Given the description of an element on the screen output the (x, y) to click on. 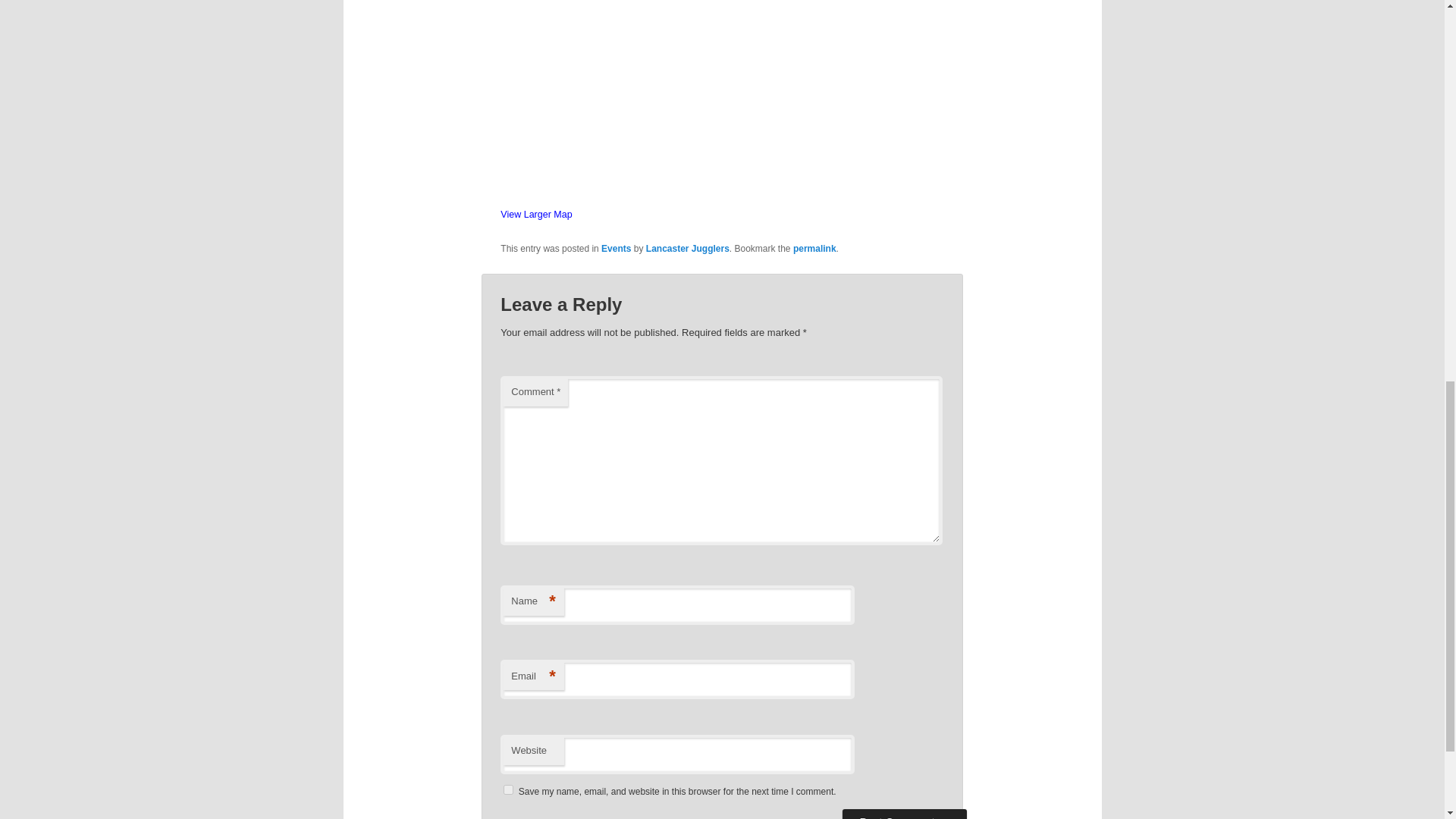
Lancaster Jugglers (687, 248)
View Larger Map (536, 214)
Events (615, 248)
Post Comment (904, 814)
Post Comment (904, 814)
yes (508, 789)
permalink (814, 248)
Permalink to World Juggling Day in Lancaster, PA (814, 248)
